Given the description of an element on the screen output the (x, y) to click on. 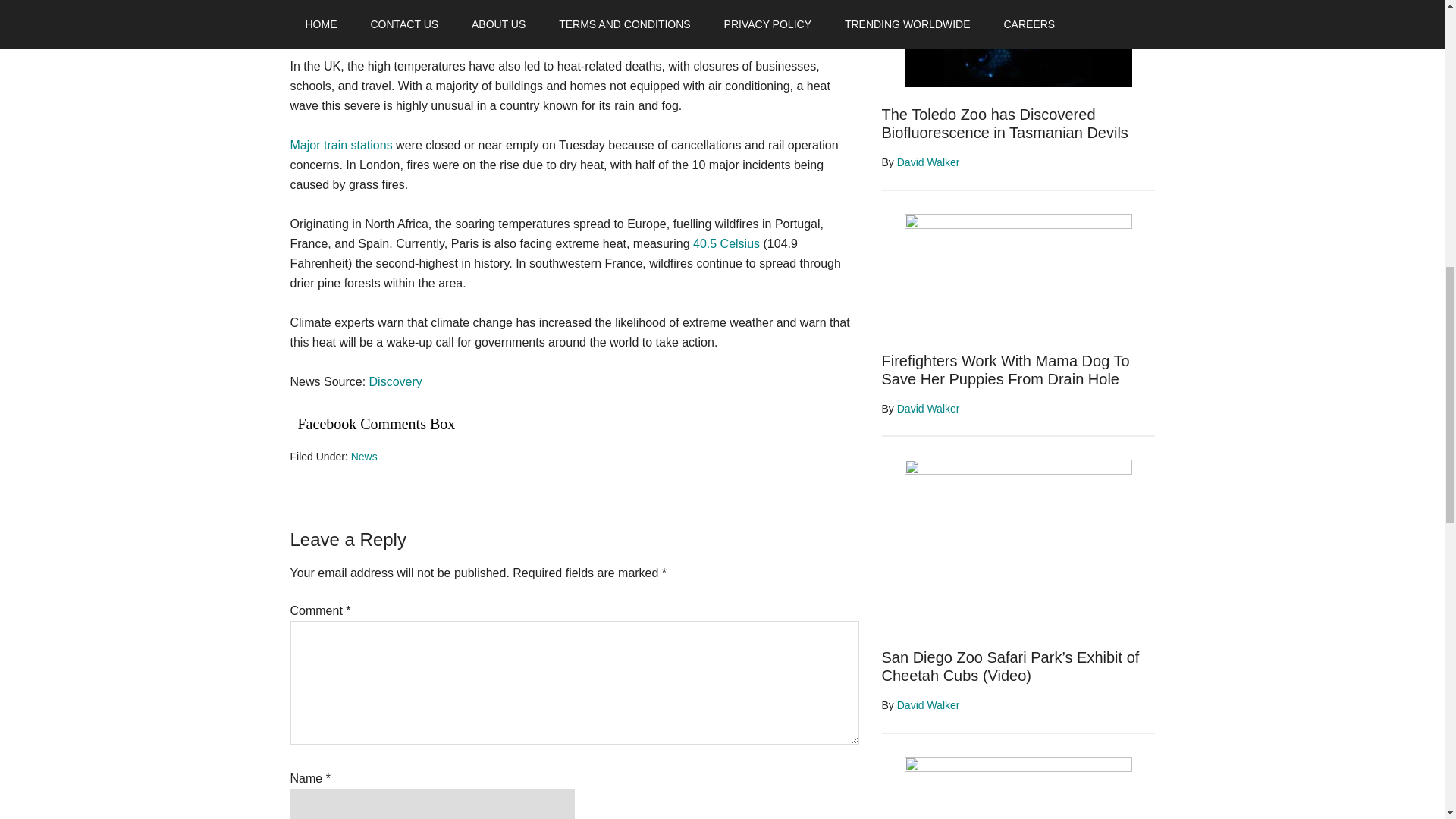
David Walker (927, 162)
40.5 Celsius (726, 243)
Discovery (395, 381)
Major train stations (340, 144)
News (363, 456)
